Given the description of an element on the screen output the (x, y) to click on. 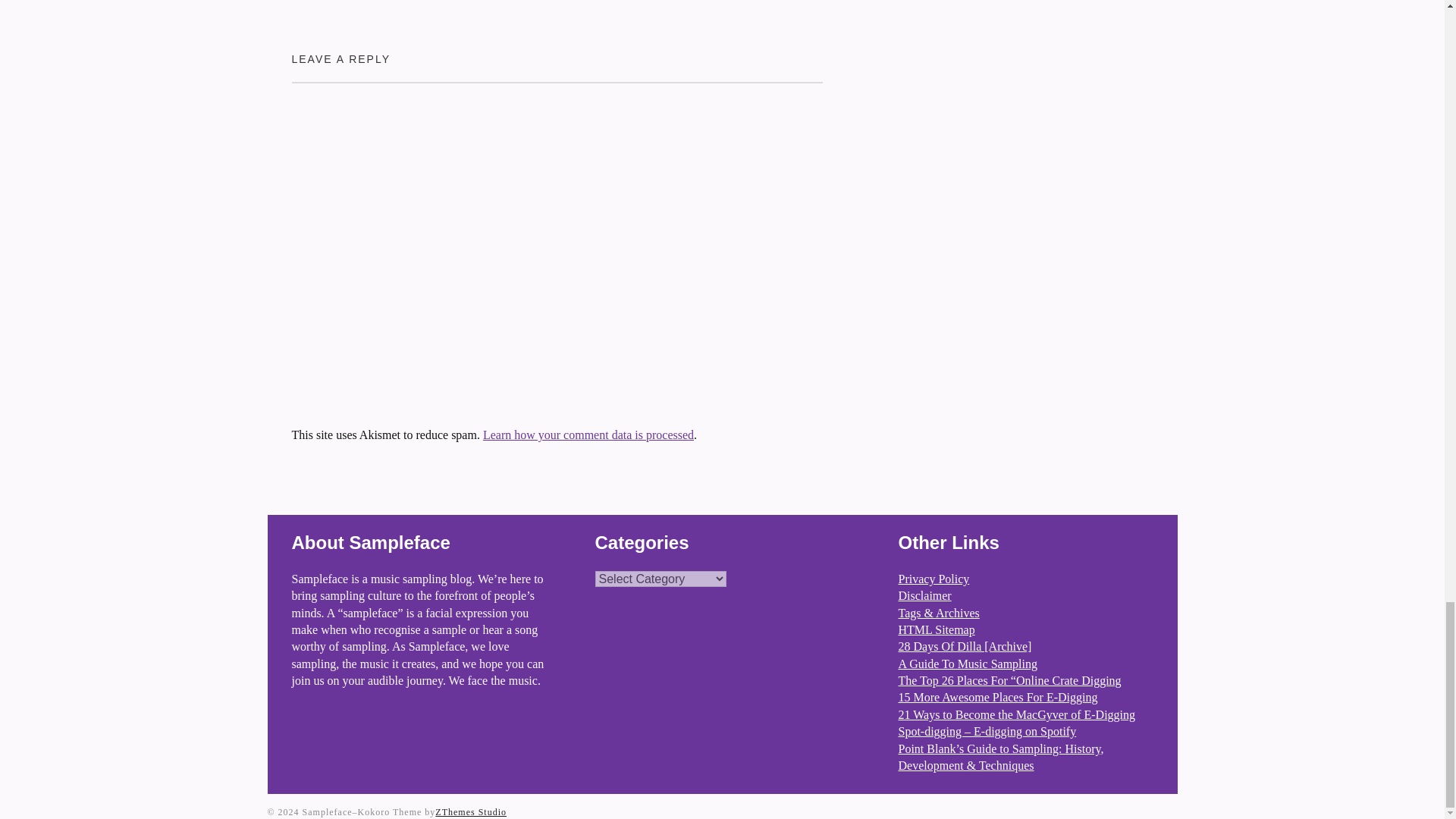
Learn how your comment data is processed (588, 434)
A Guide To Music Sampling (967, 663)
Privacy Policy (933, 578)
Disclaimer (924, 594)
HTML Sitemap (936, 629)
